Given the description of an element on the screen output the (x, y) to click on. 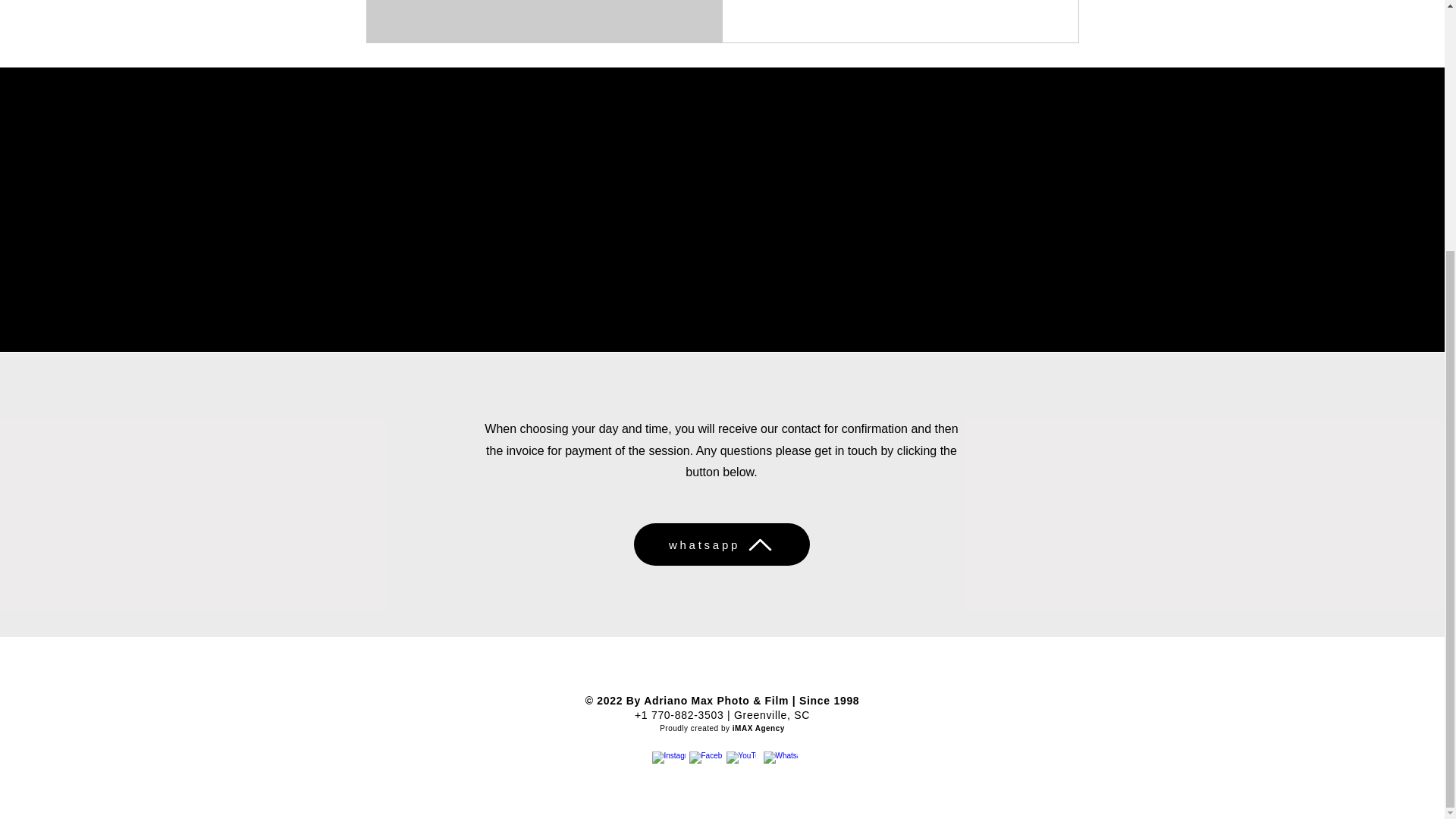
whatsapp (721, 544)
iMAX Agency (758, 727)
